Given the description of an element on the screen output the (x, y) to click on. 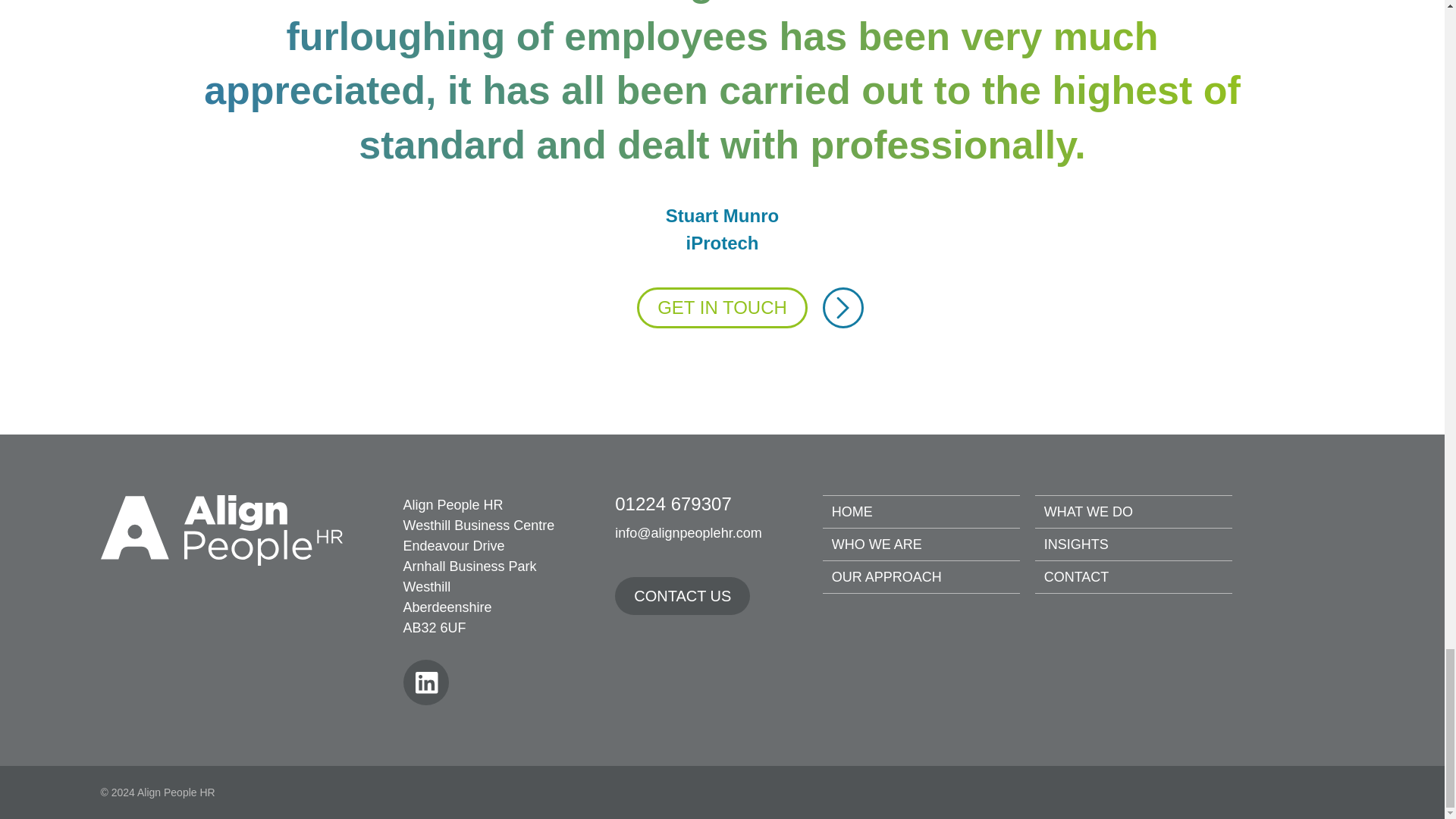
WHO WE ARE (876, 544)
CONTACT US (681, 596)
LinkedIn (425, 682)
01224 679307 (687, 504)
CONTACT (1076, 576)
WHAT WE DO (1087, 511)
INSIGHTS (1075, 544)
GET IN TOUCH (722, 307)
OUR APPROACH (886, 576)
HOME (851, 511)
